Given the description of an element on the screen output the (x, y) to click on. 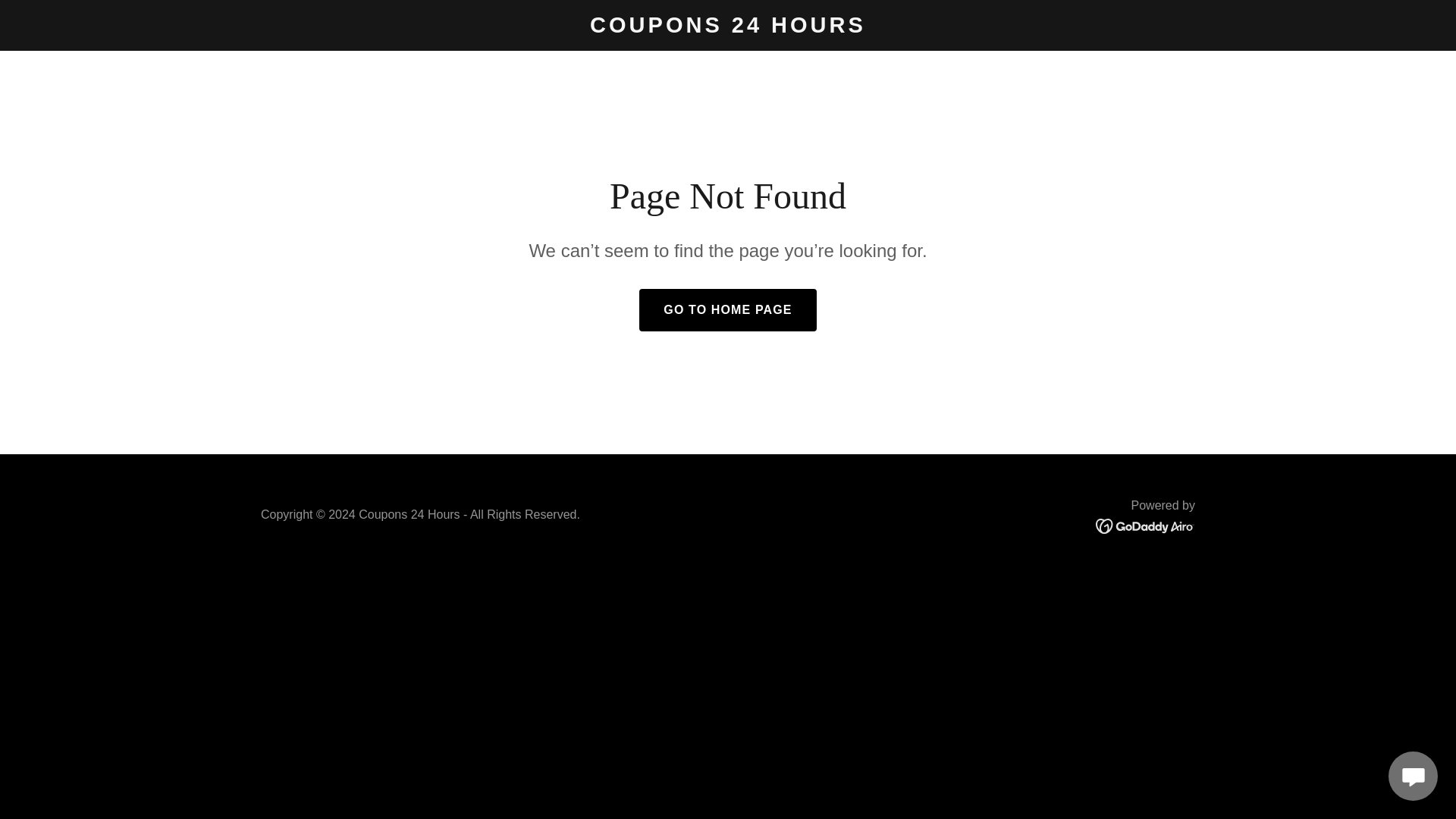
Coupons 24 Hours (727, 28)
COUPONS 24 HOURS (727, 28)
GO TO HOME PAGE (727, 310)
